Given the description of an element on the screen output the (x, y) to click on. 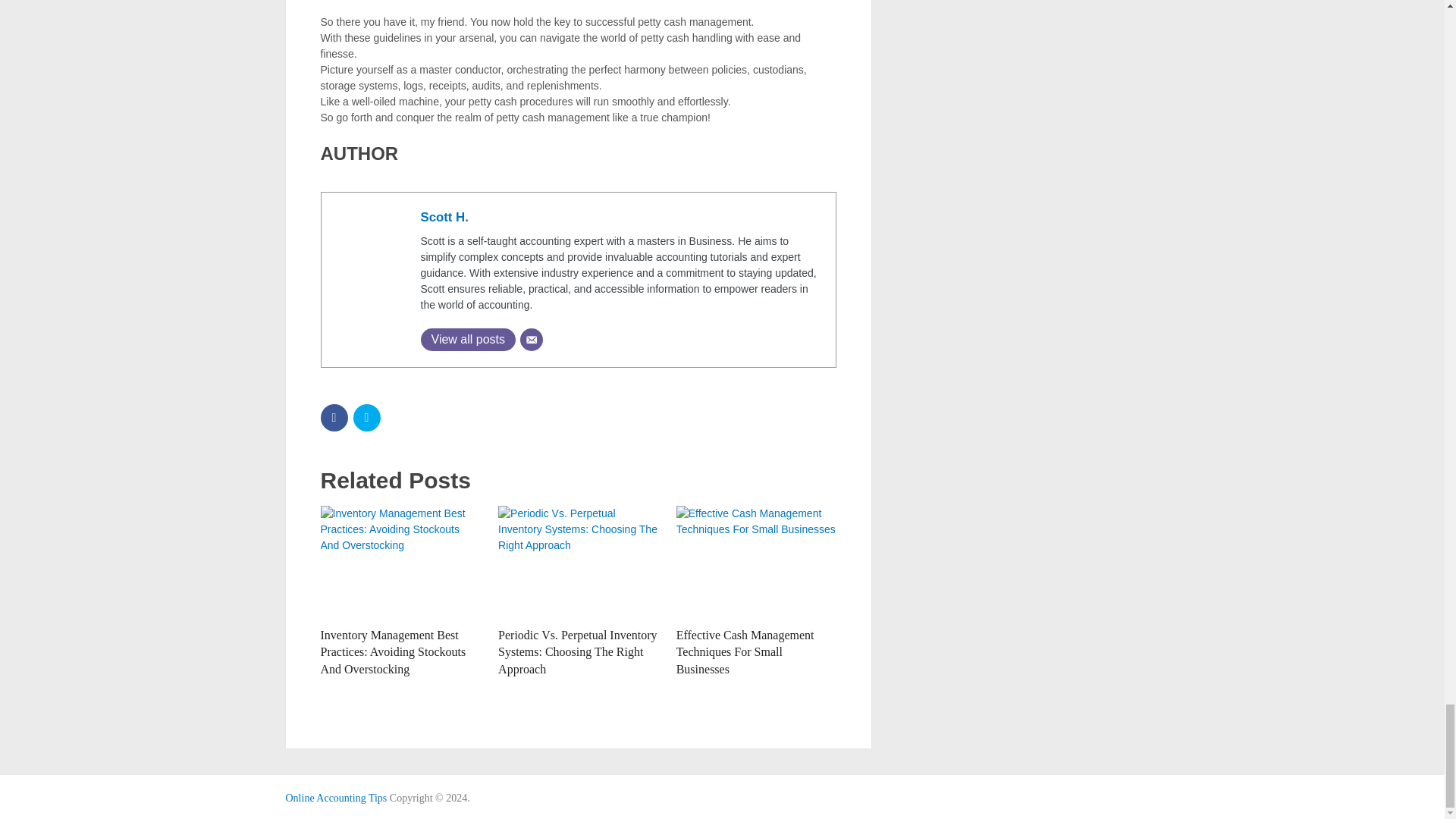
Scott H. (443, 216)
View all posts (467, 339)
Effective Cash Management Techniques For Small Businesses (745, 651)
